Given the description of an element on the screen output the (x, y) to click on. 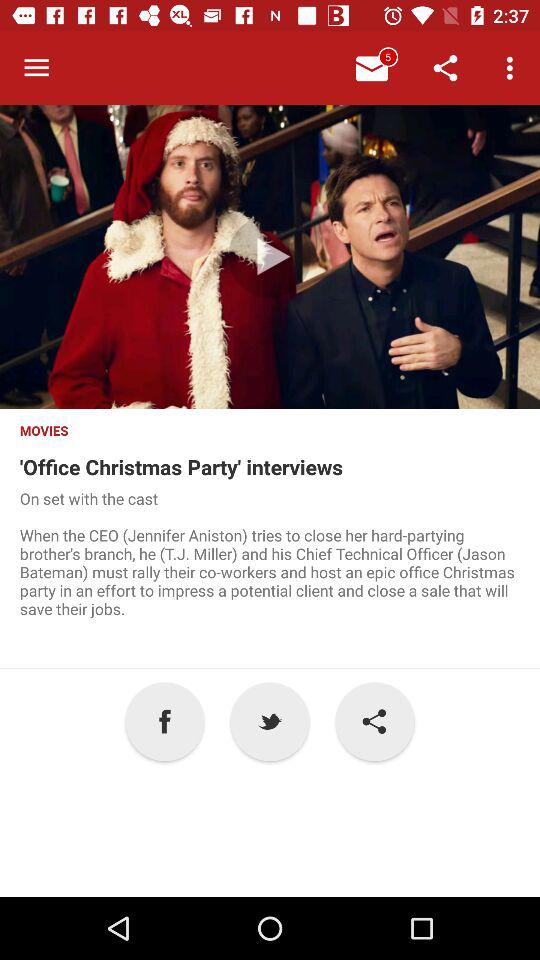
launch the a at the bottom left corner (164, 721)
